Given the description of an element on the screen output the (x, y) to click on. 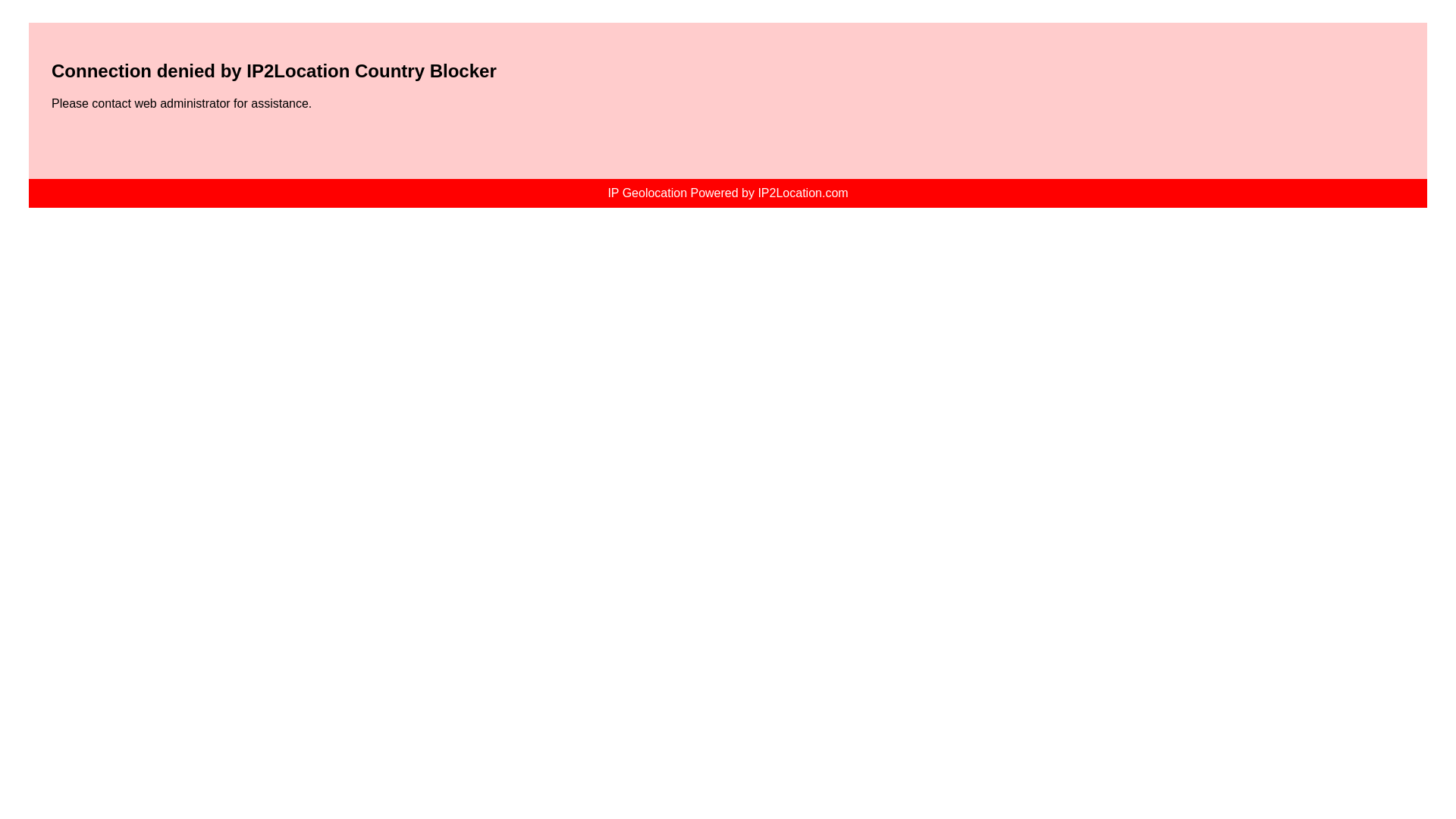
IP Geolocation Powered by IP2Location.com Element type: text (727, 192)
